Given the description of an element on the screen output the (x, y) to click on. 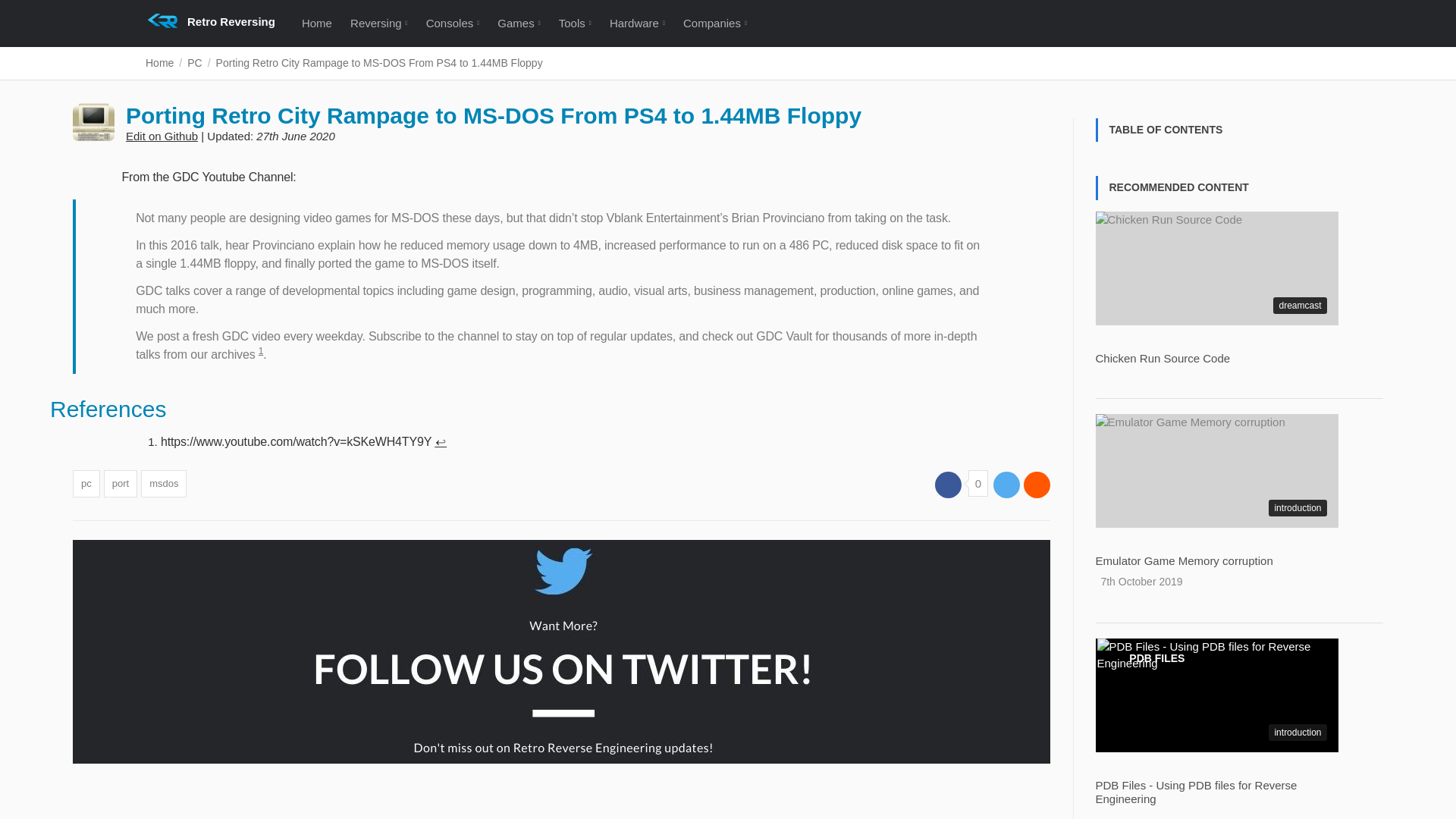
Reversing (378, 23)
Home (316, 23)
Retro Reversing (231, 23)
Consoles (452, 23)
